Given the description of an element on the screen output the (x, y) to click on. 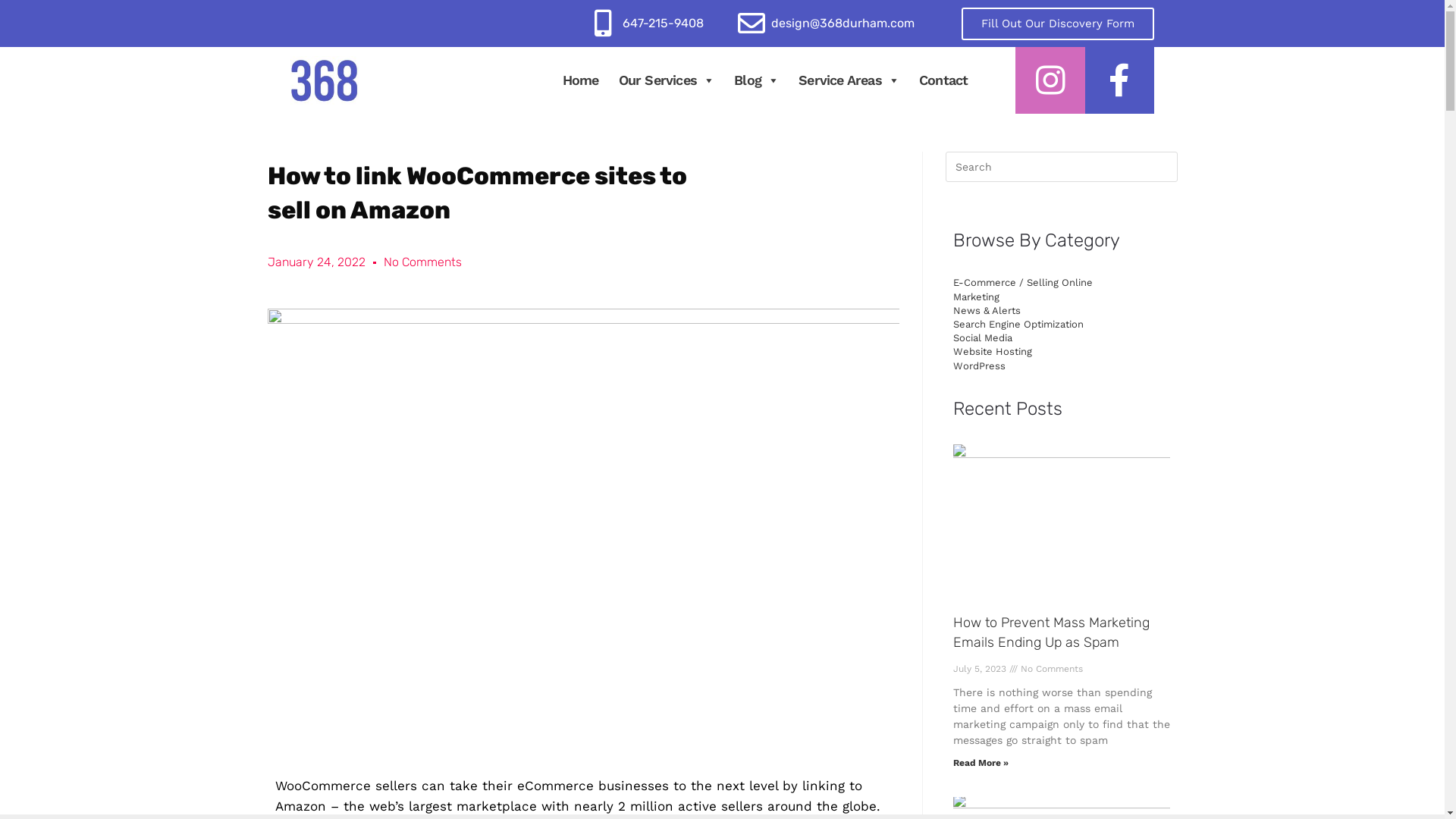
design@368durham.com Element type: text (842, 22)
Home Element type: text (580, 80)
logo241 Element type: hover (323, 80)
January 24, 2022 Element type: text (315, 262)
News & Alerts Element type: text (985, 310)
Marketing Element type: text (975, 296)
Social Media Element type: text (981, 337)
How to Prevent Mass Marketing Emails Ending Up as Spam Element type: text (1050, 631)
Blog Element type: text (756, 80)
Search Engine Optimization Element type: text (1017, 323)
Website Hosting Element type: text (991, 351)
Fill Out Our Discovery Form Element type: text (1057, 23)
Service Areas Element type: text (848, 80)
E-Commerce / Selling Online Element type: text (1022, 282)
Contact Element type: text (943, 80)
647-215-9408 Element type: text (662, 22)
No Comments Element type: text (422, 262)
Our Services Element type: text (666, 80)
WordPress Element type: text (978, 365)
